Given the description of an element on the screen output the (x, y) to click on. 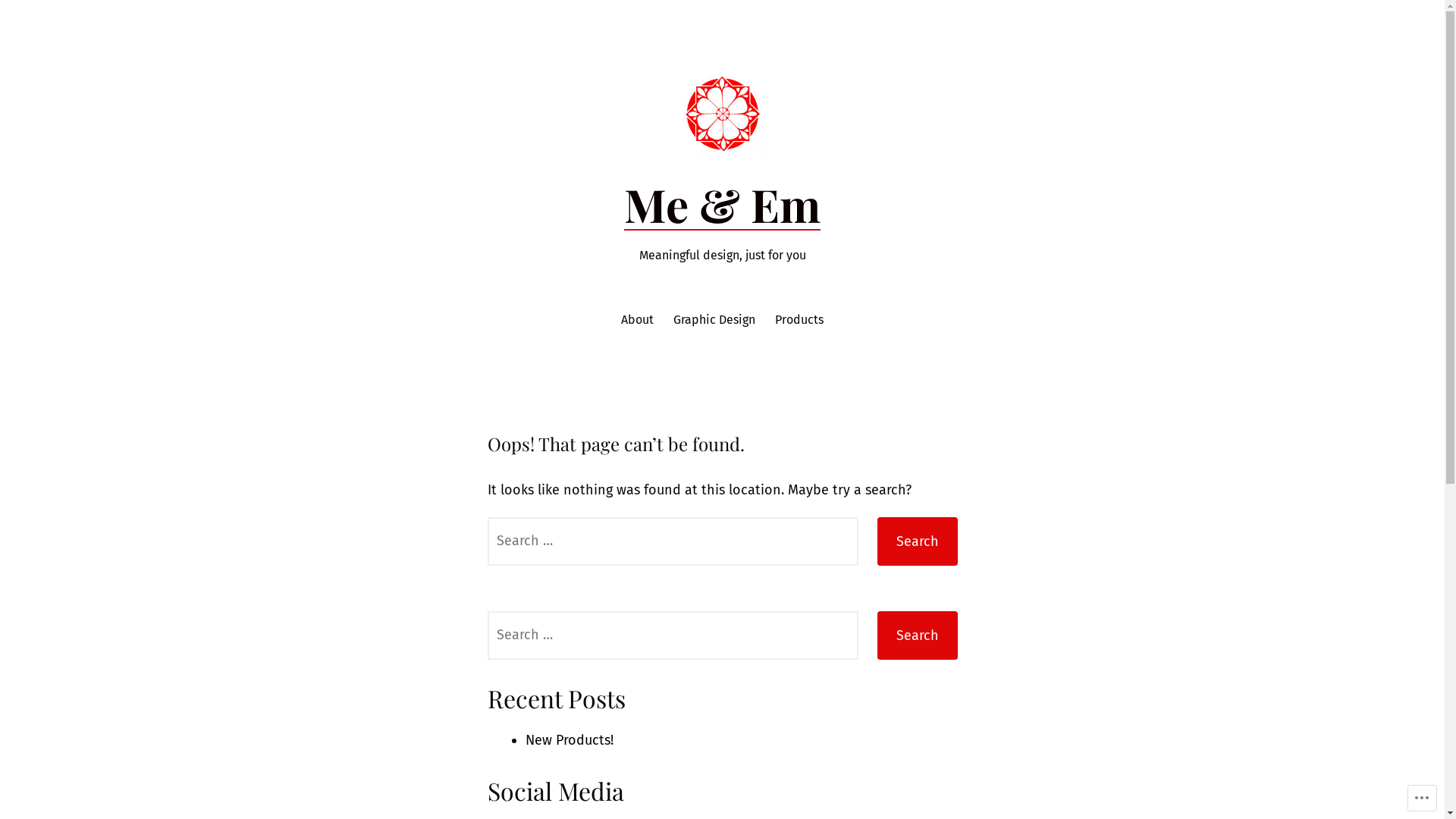
Me & Em Element type: text (722, 203)
Search Element type: text (916, 635)
New Products! Element type: text (568, 740)
Products Element type: text (799, 319)
Graphic Design Element type: text (714, 319)
Search Element type: text (916, 541)
About Element type: text (637, 319)
